Given the description of an element on the screen output the (x, y) to click on. 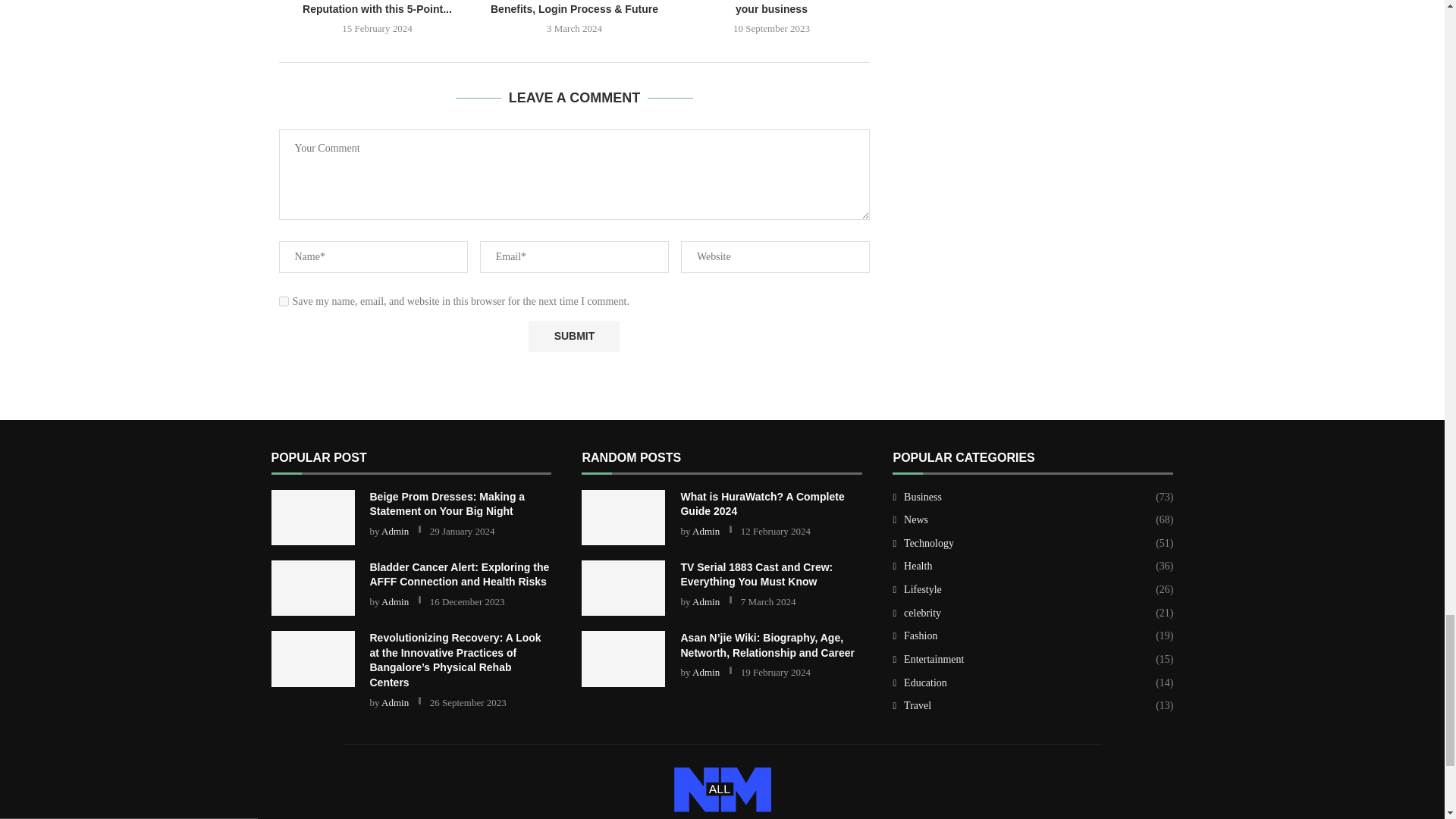
yes (283, 301)
Submit (574, 336)
